Given the description of an element on the screen output the (x, y) to click on. 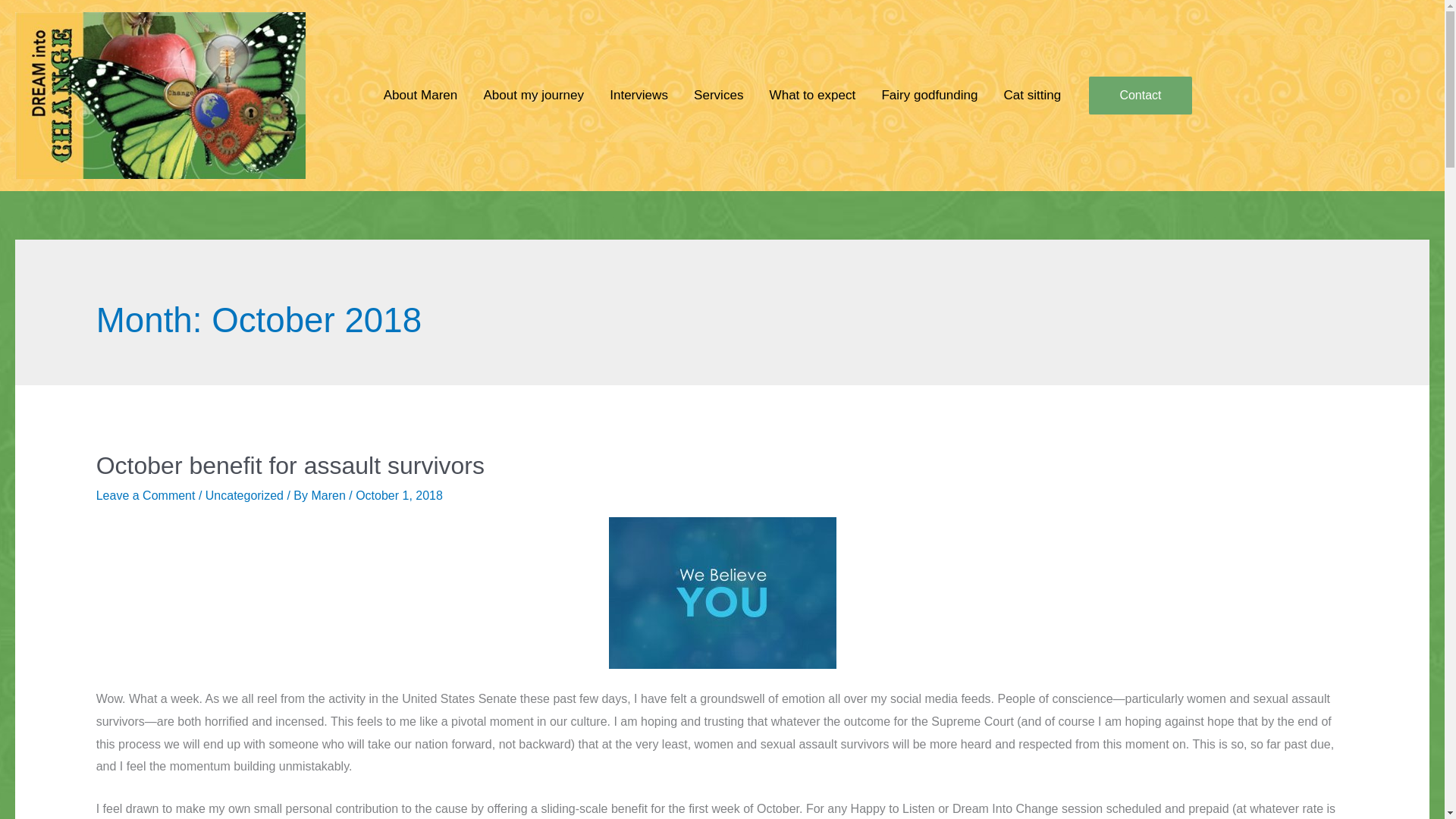
What to expect (813, 94)
Uncategorized (244, 495)
About Maren (420, 94)
Cat sitting (1032, 94)
Interviews (638, 94)
Contact (1140, 95)
Leave a Comment (145, 495)
Fairy godfunding (928, 94)
Maren (330, 495)
October benefit for assault survivors (290, 465)
About my journey (533, 94)
Services (719, 94)
View all posts by Maren (330, 495)
